Given the description of an element on the screen output the (x, y) to click on. 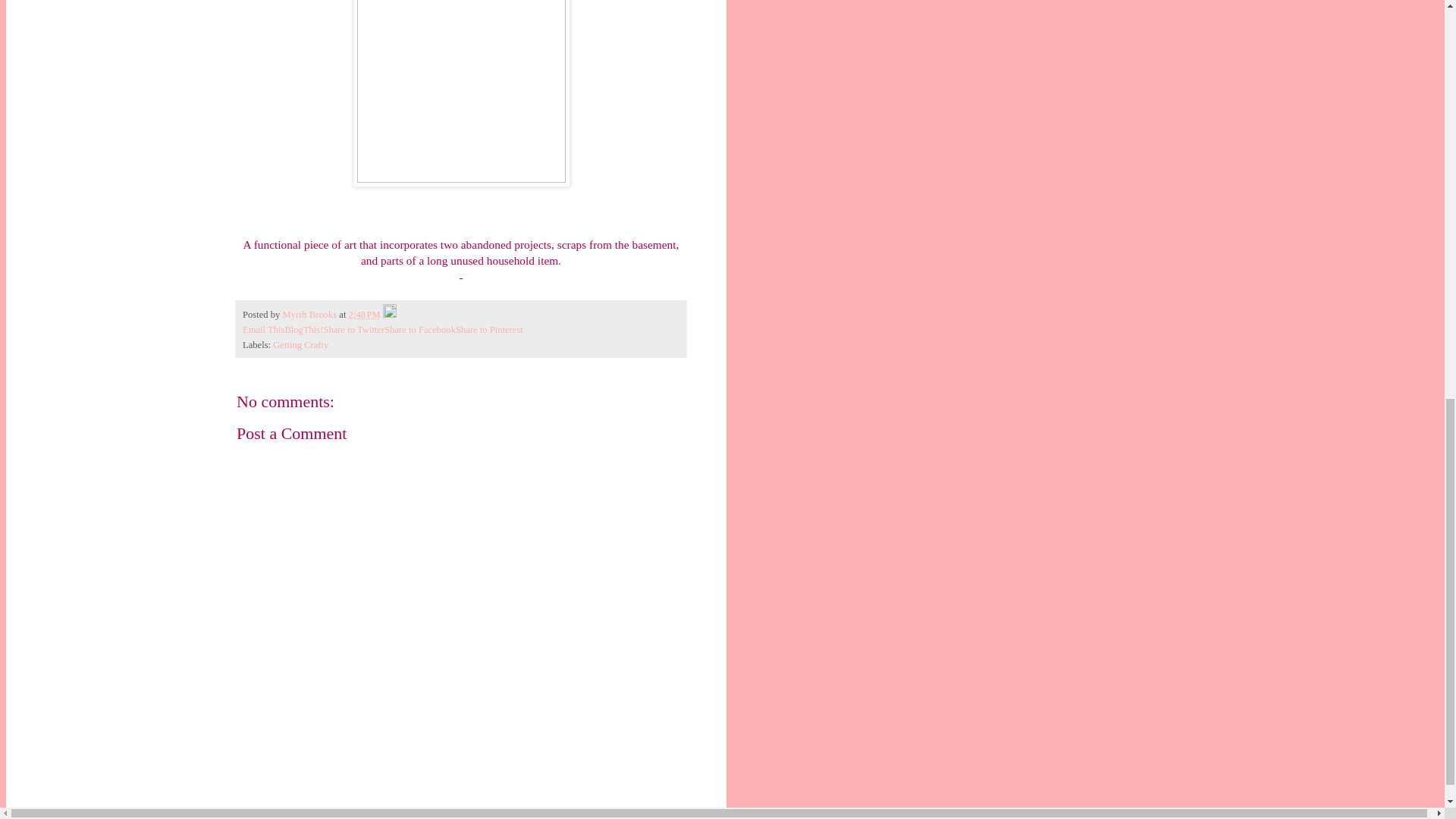
Email This (263, 329)
Email This (263, 329)
author profile (310, 314)
Share to Pinterest (488, 329)
permanent link (364, 314)
BlogThis! (303, 329)
Share to Facebook (419, 329)
Share to Twitter (353, 329)
Share to Twitter (353, 329)
